Given the description of an element on the screen output the (x, y) to click on. 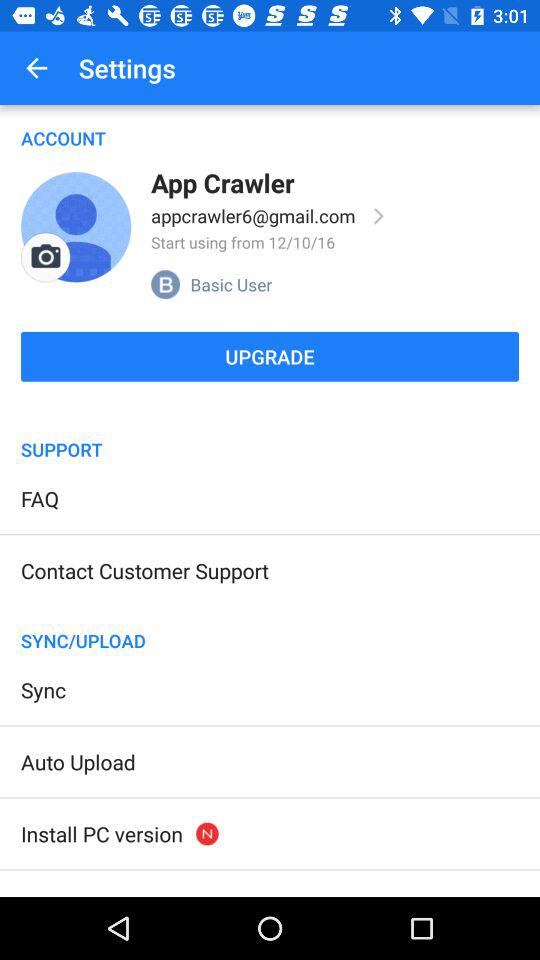
click the item above the appcrawler6@gmail.com icon (222, 182)
